Given the description of an element on the screen output the (x, y) to click on. 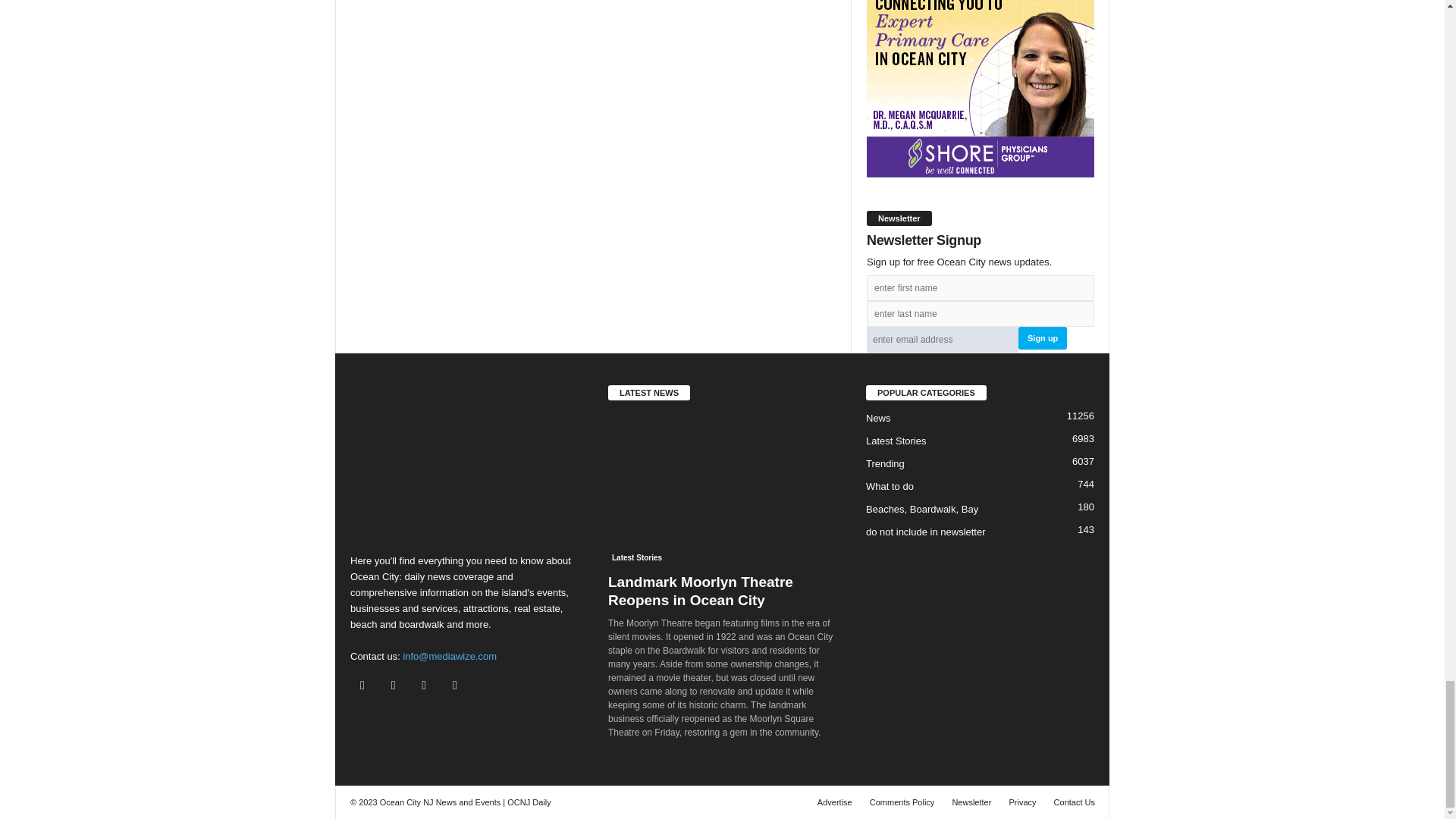
Sign up (1042, 337)
